Given the description of an element on the screen output the (x, y) to click on. 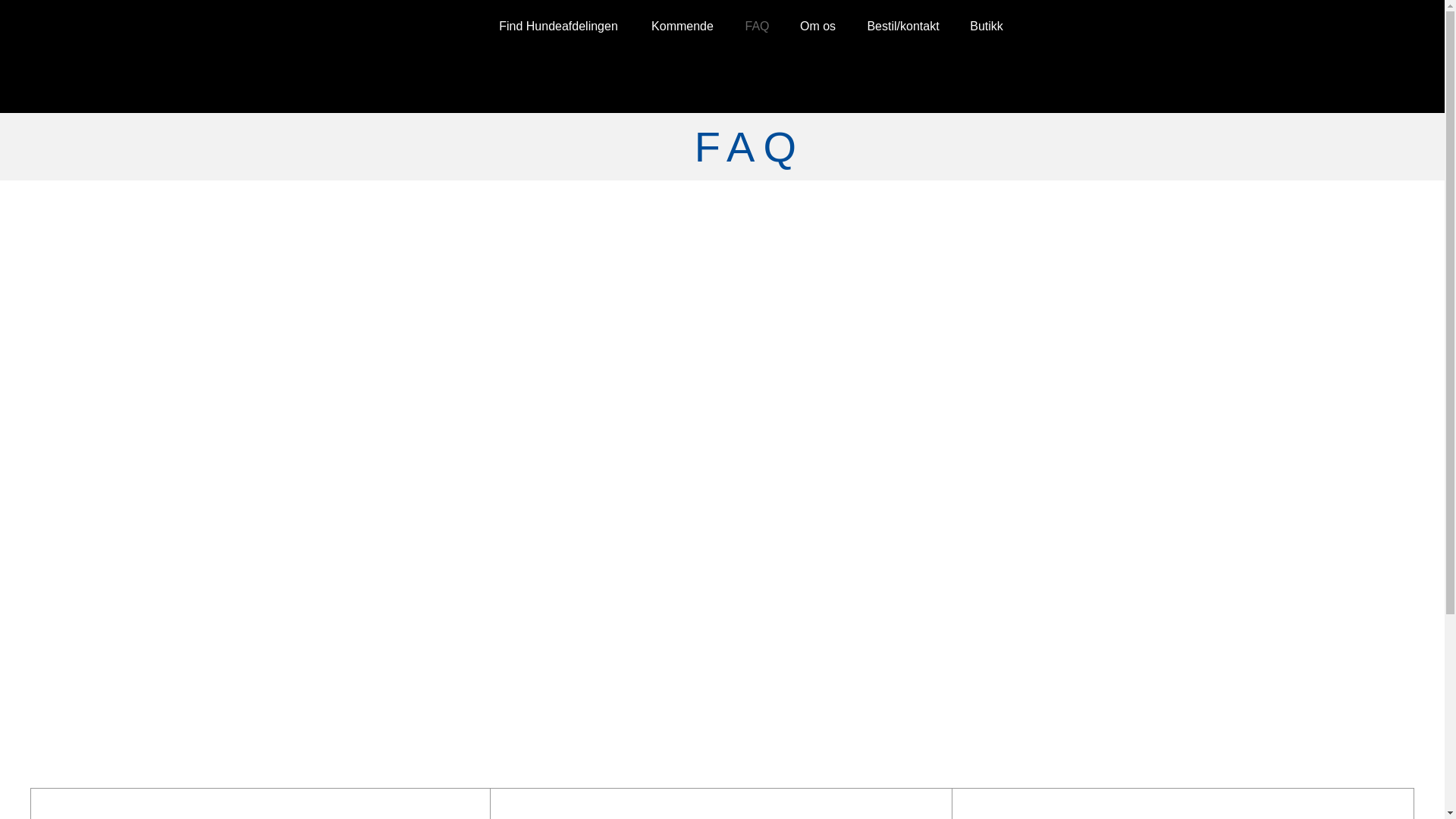
Butikk (986, 25)
Find Hundeafdelingen (557, 25)
Kommende (682, 25)
Om os (817, 25)
FAQ (756, 25)
